Given the description of an element on the screen output the (x, y) to click on. 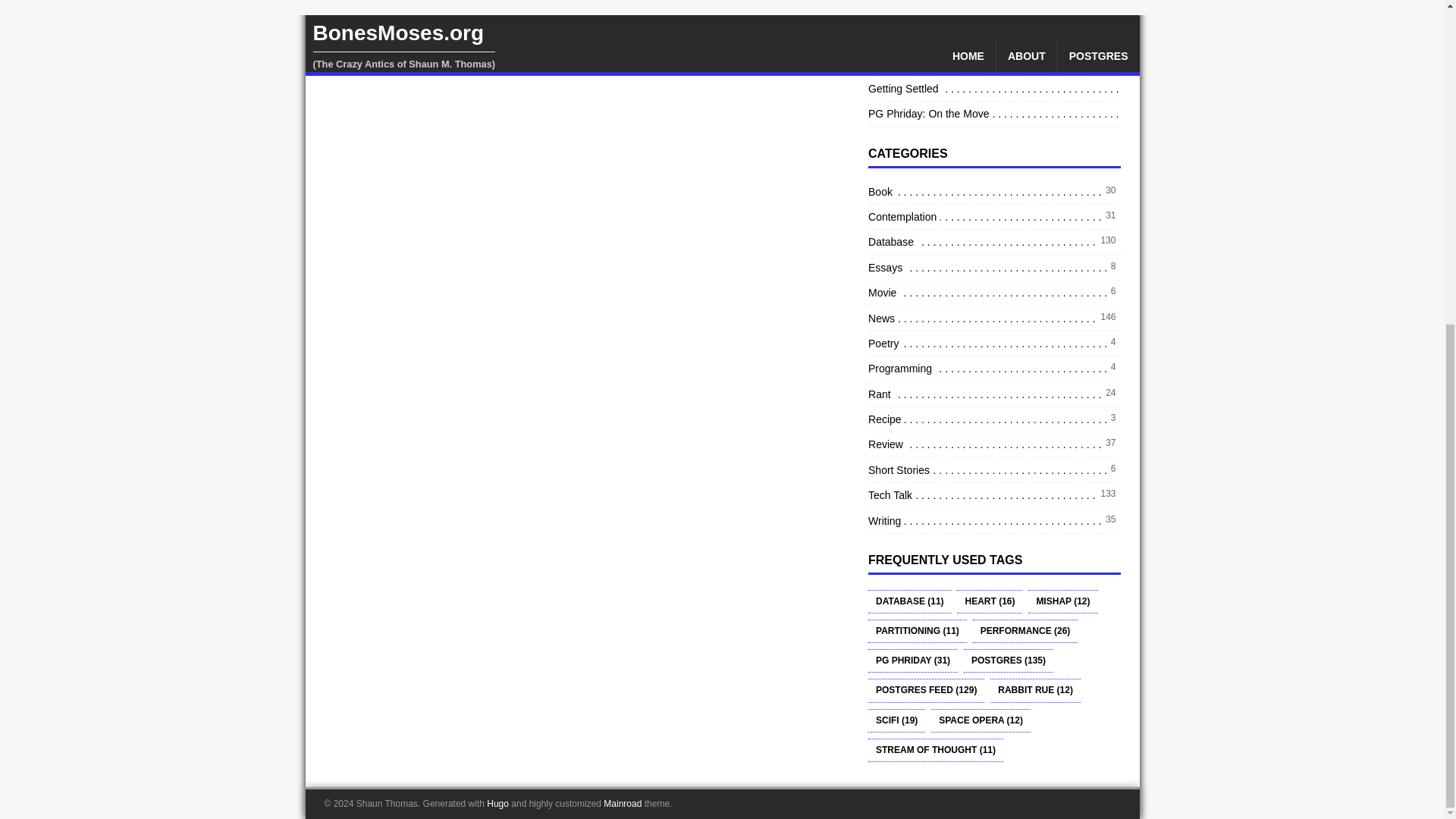
PG Phriday: On the Move (929, 113)
Fourth of Denied (908, 37)
Database (909, 601)
Partitioning (916, 630)
SciFi (895, 720)
Database (892, 241)
Review (887, 443)
News (882, 318)
Postgres Feed (925, 689)
Tech Talk (891, 494)
Getting Settled (904, 88)
Movie (883, 292)
Mishap (1062, 601)
Space Opera (980, 720)
Short Stories (900, 469)
